Given the description of an element on the screen output the (x, y) to click on. 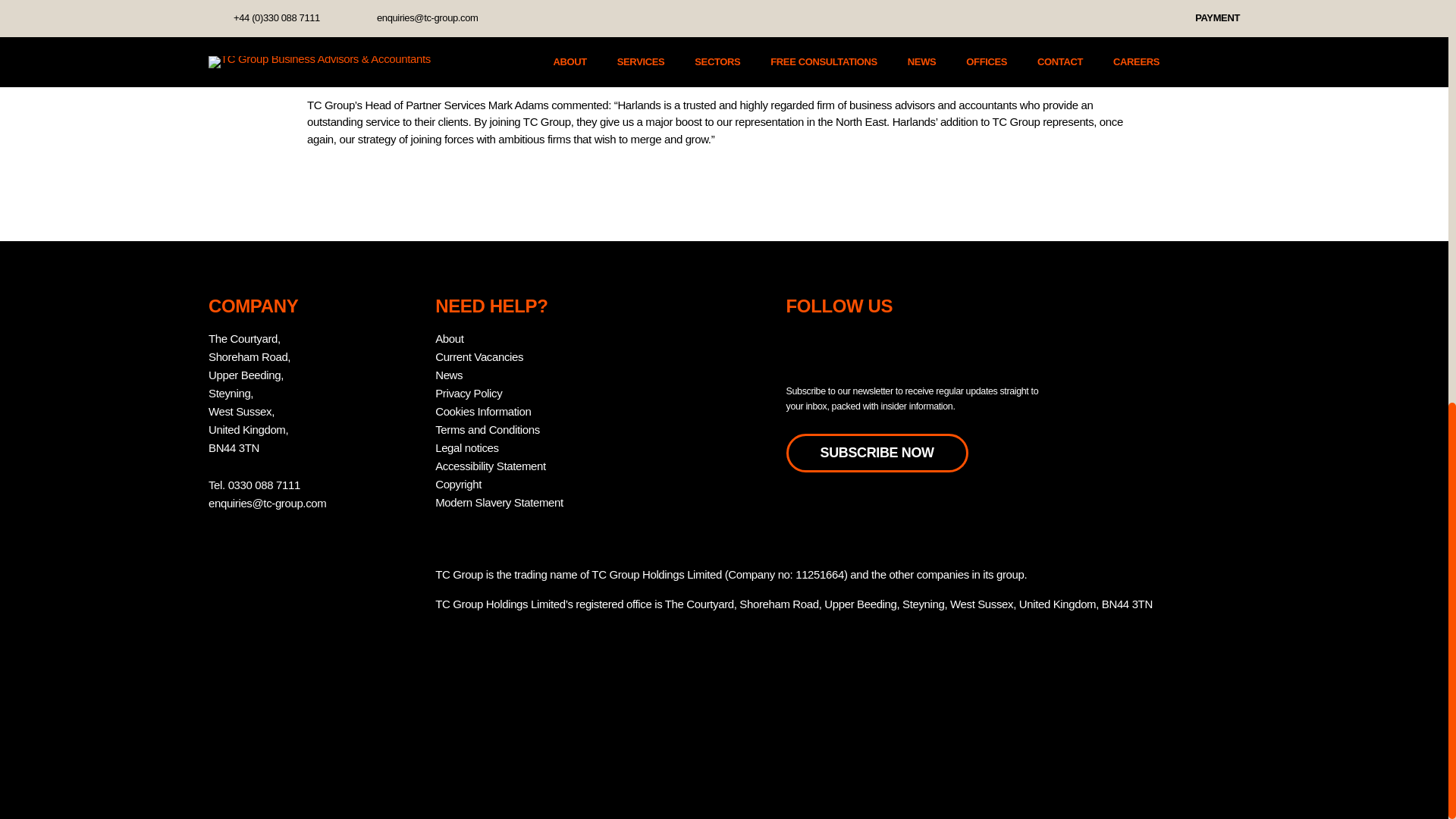
TC Harlands (337, 2)
0330 088 7111 (263, 484)
Current Vacancies (478, 356)
About (449, 338)
News (449, 374)
Accessibility Statement (490, 465)
Terms and Conditions (487, 429)
Privacy Policy (468, 392)
Cookies Information (483, 410)
Legal notices (467, 447)
Copyright (458, 483)
